Given the description of an element on the screen output the (x, y) to click on. 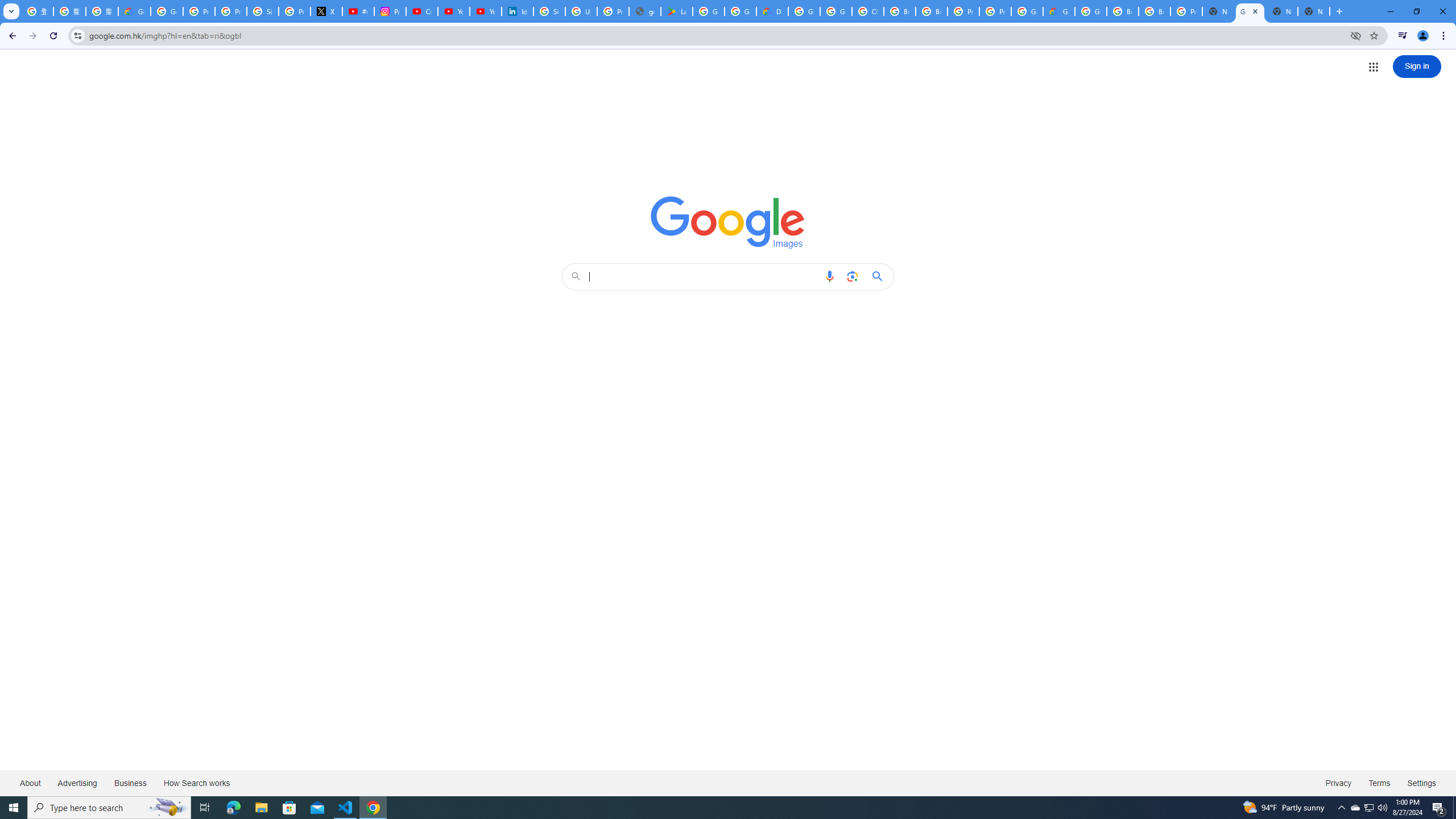
New Tab (1313, 11)
Sign in - Google Accounts (262, 11)
Browse Chrome as a guest - Computer - Google Chrome Help (1123, 11)
Sign in - Google Accounts (549, 11)
Google Cloud Privacy Notice (134, 11)
Google Cloud Platform (1027, 11)
#nbabasketballhighlights - YouTube (358, 11)
